Given the description of an element on the screen output the (x, y) to click on. 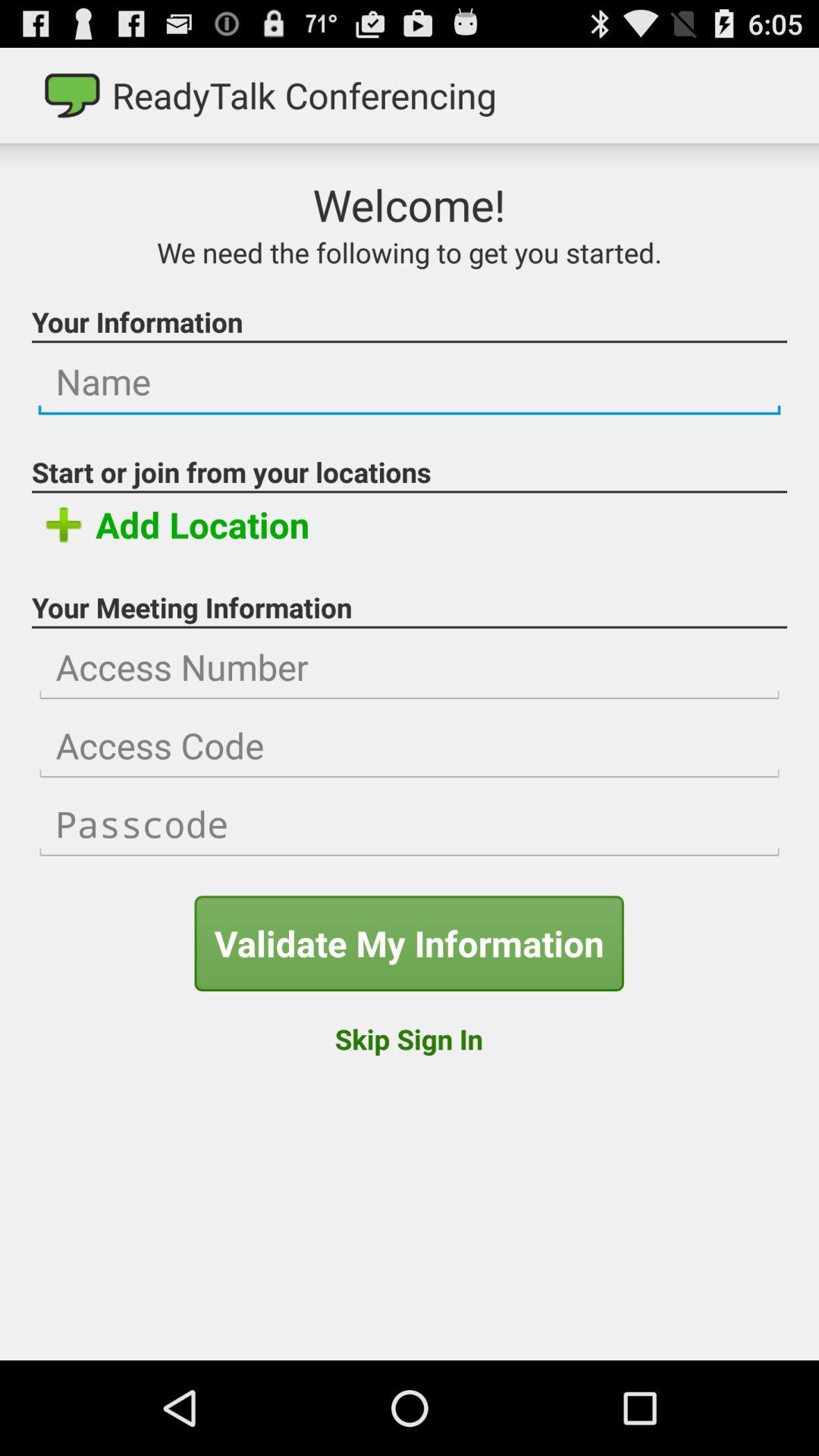
enter access code (409, 745)
